Given the description of an element on the screen output the (x, y) to click on. 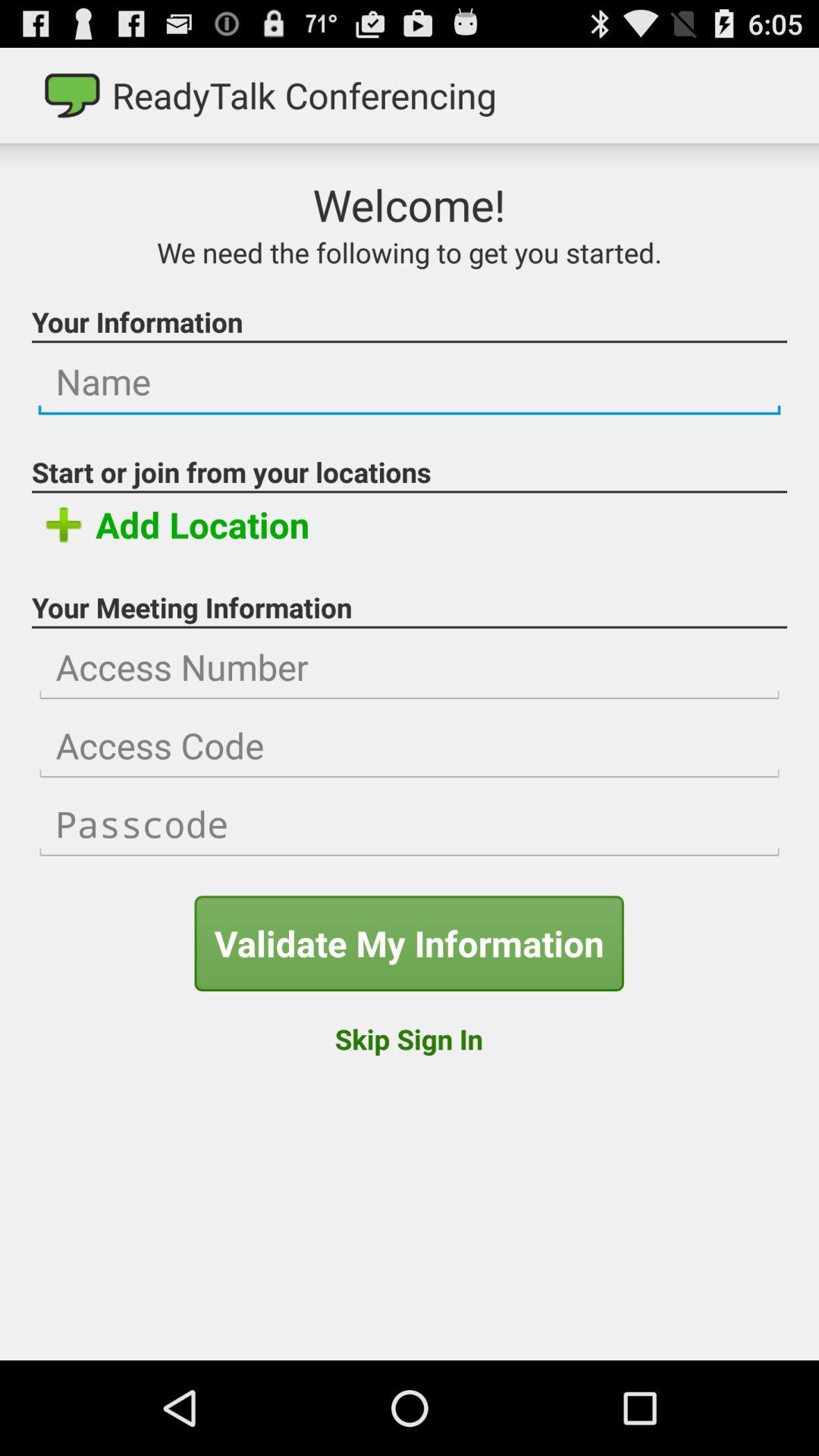
enter access code (409, 745)
